Given the description of an element on the screen output the (x, y) to click on. 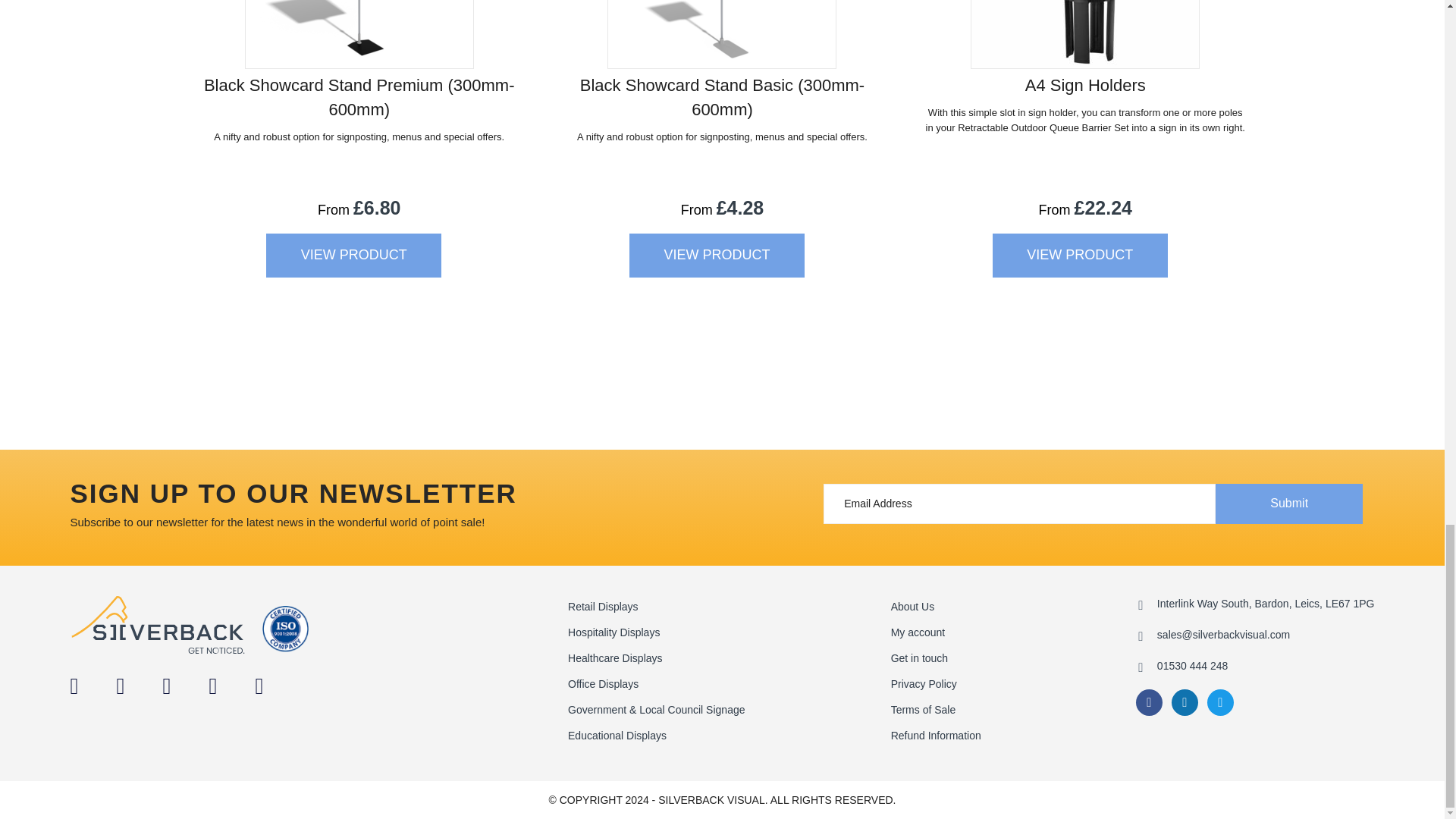
Call Us Today (1192, 665)
Email Us Today (1223, 634)
